Given the description of an element on the screen output the (x, y) to click on. 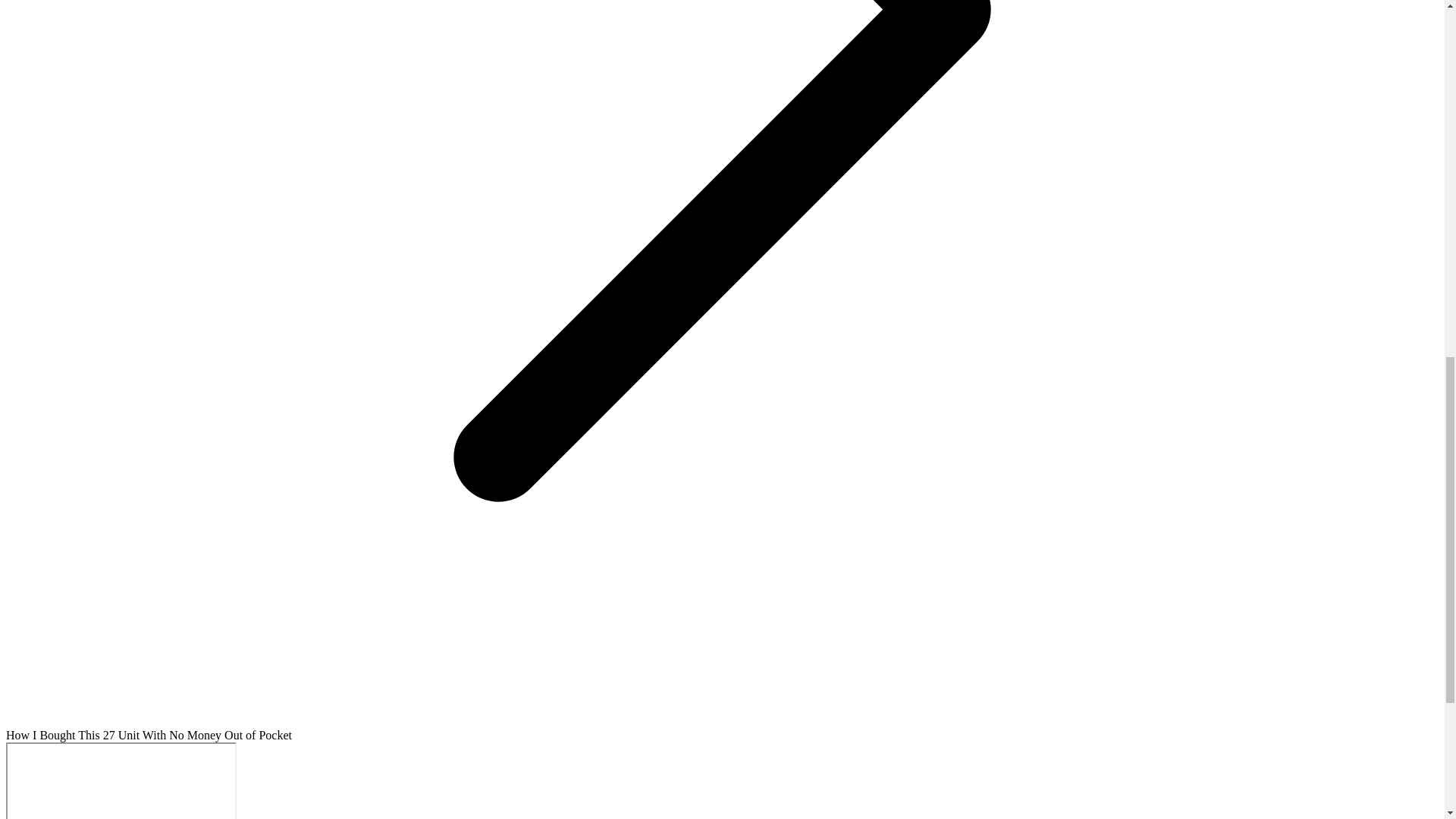
How I Bought This 27 Unit With No Money Out of Pocket (120, 780)
